Given the description of an element on the screen output the (x, y) to click on. 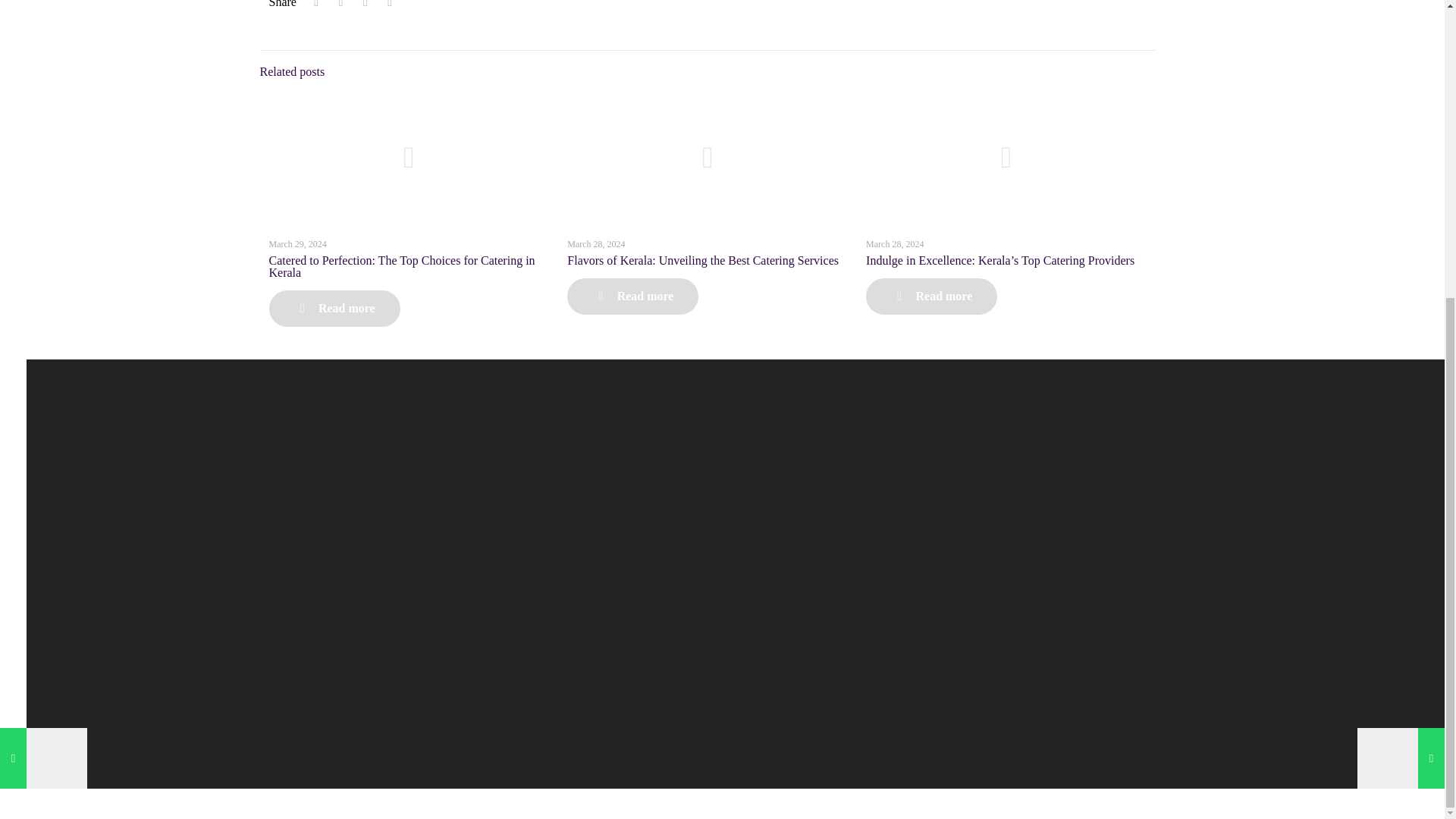
Read more (632, 296)
Read more (931, 296)
Flavors of Kerala: Unveiling the Best Catering Services (702, 259)
Read more (332, 308)
